Given the description of an element on the screen output the (x, y) to click on. 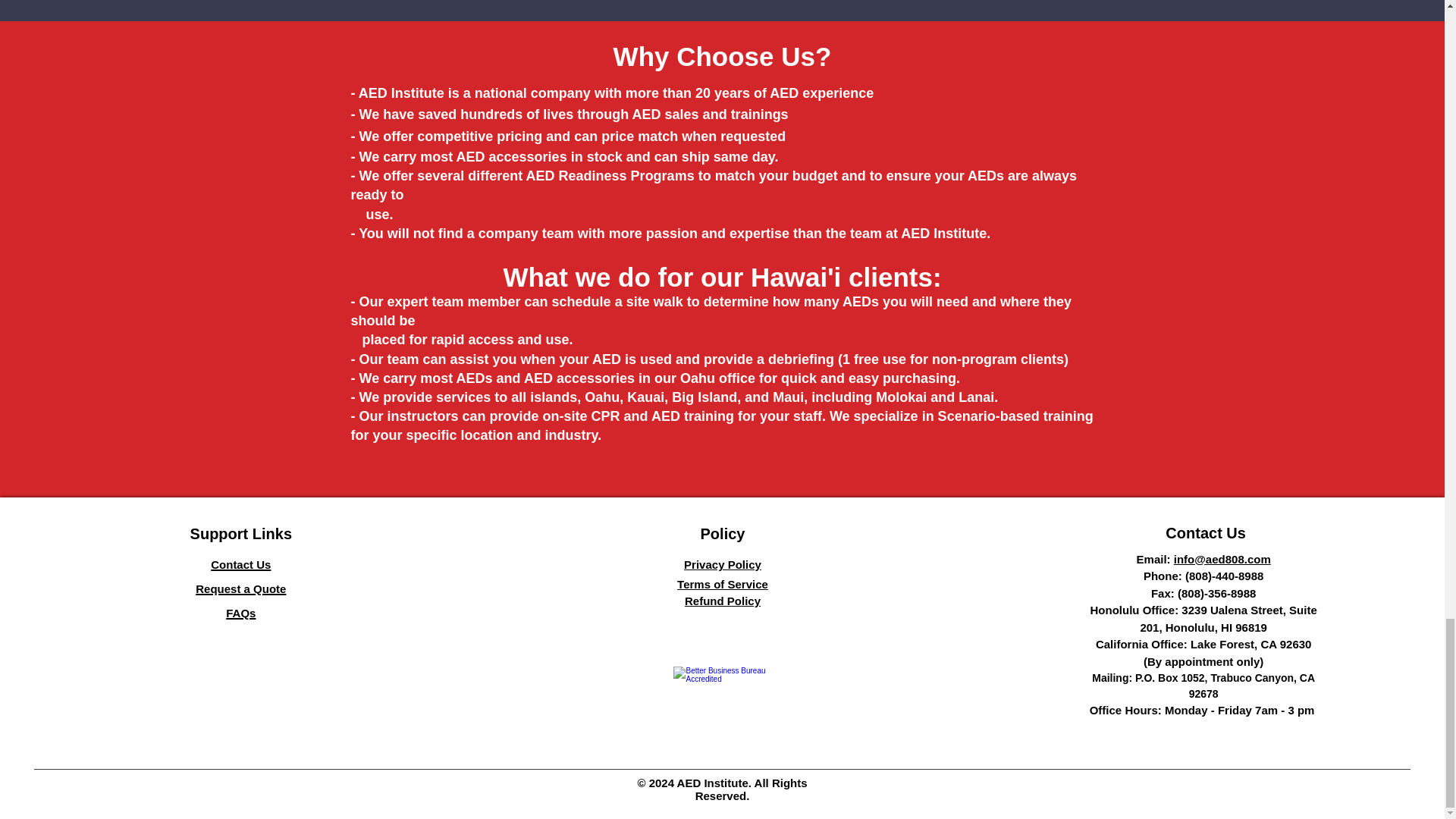
Contact Us (240, 563)
Refund Policy (722, 600)
FAQs (240, 611)
Request a Quote (240, 587)
Privacy Policy (722, 563)
Terms of Service (722, 584)
